Given the description of an element on the screen output the (x, y) to click on. 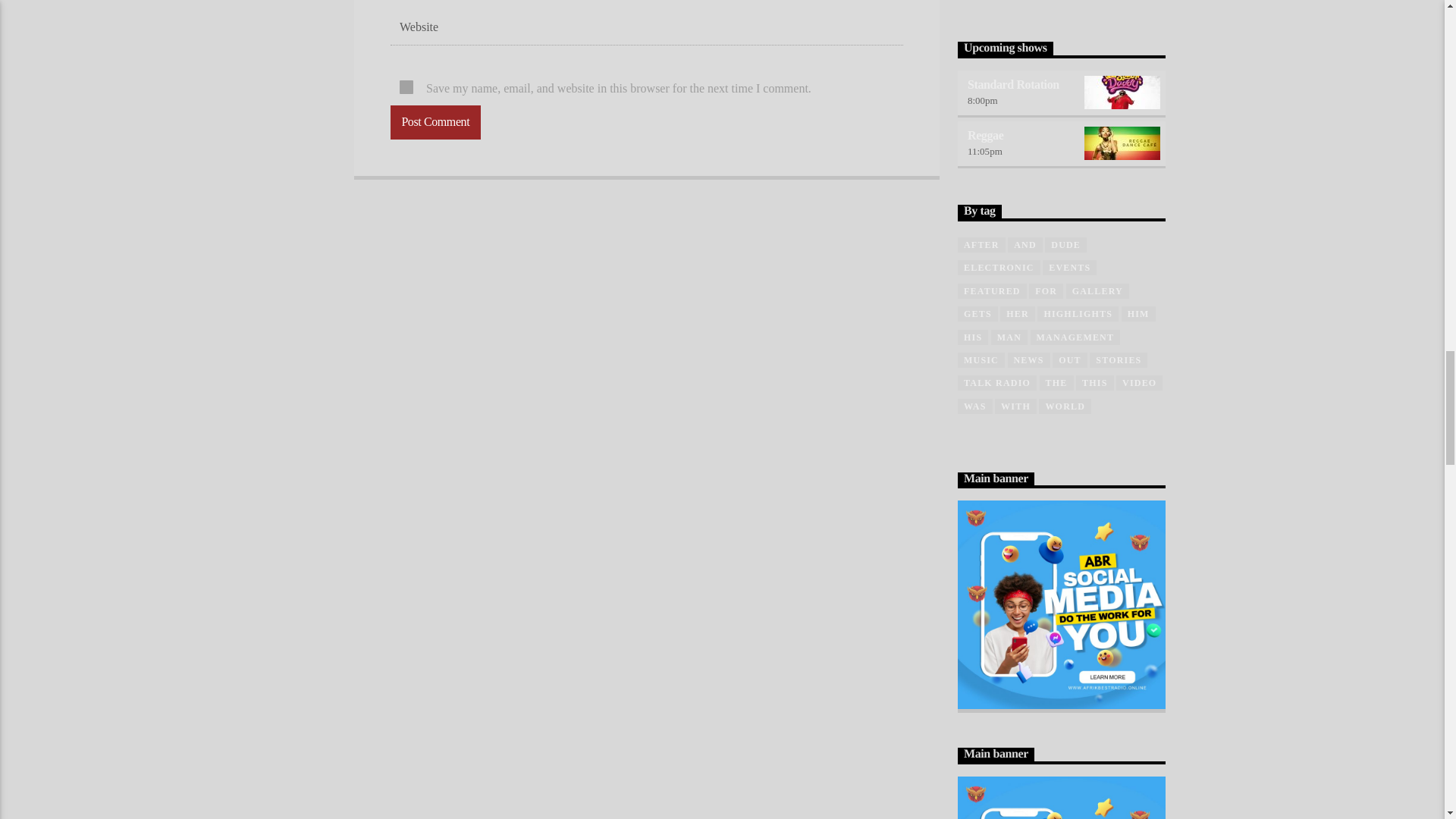
Post Comment (435, 122)
